Given the description of an element on the screen output the (x, y) to click on. 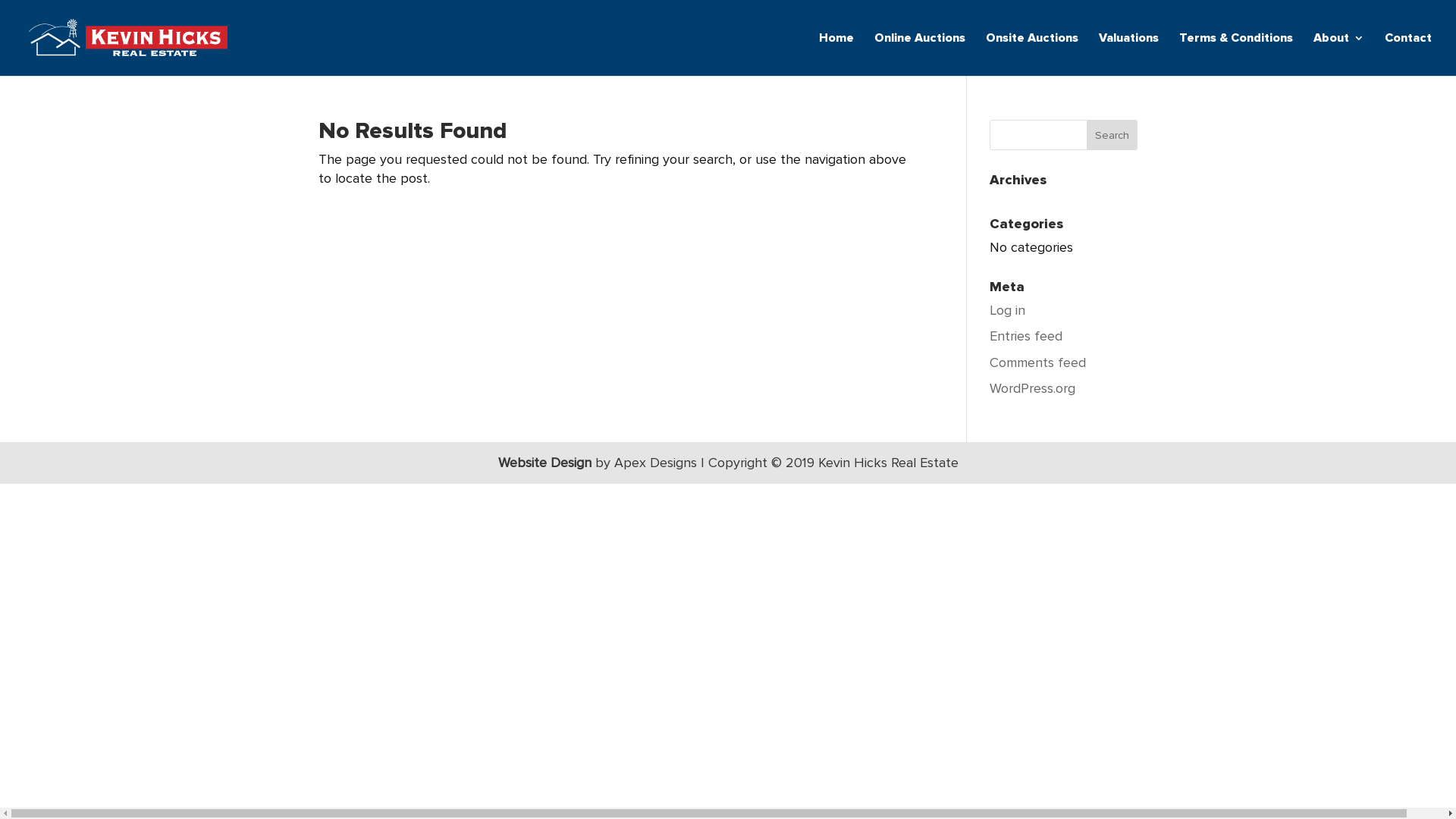
Comments feed Element type: text (1037, 362)
About Element type: text (1338, 53)
Search Element type: text (1111, 134)
Website Design Element type: text (545, 462)
WordPress.org Element type: text (1032, 387)
Entries feed Element type: text (1025, 335)
Valuations Element type: text (1128, 53)
Home Element type: text (836, 53)
Terms & Conditions Element type: text (1235, 53)
Onsite Auctions Element type: text (1031, 53)
Online Auctions Element type: text (919, 53)
Contact Element type: text (1407, 53)
Log in Element type: text (1007, 309)
